Given the description of an element on the screen output the (x, y) to click on. 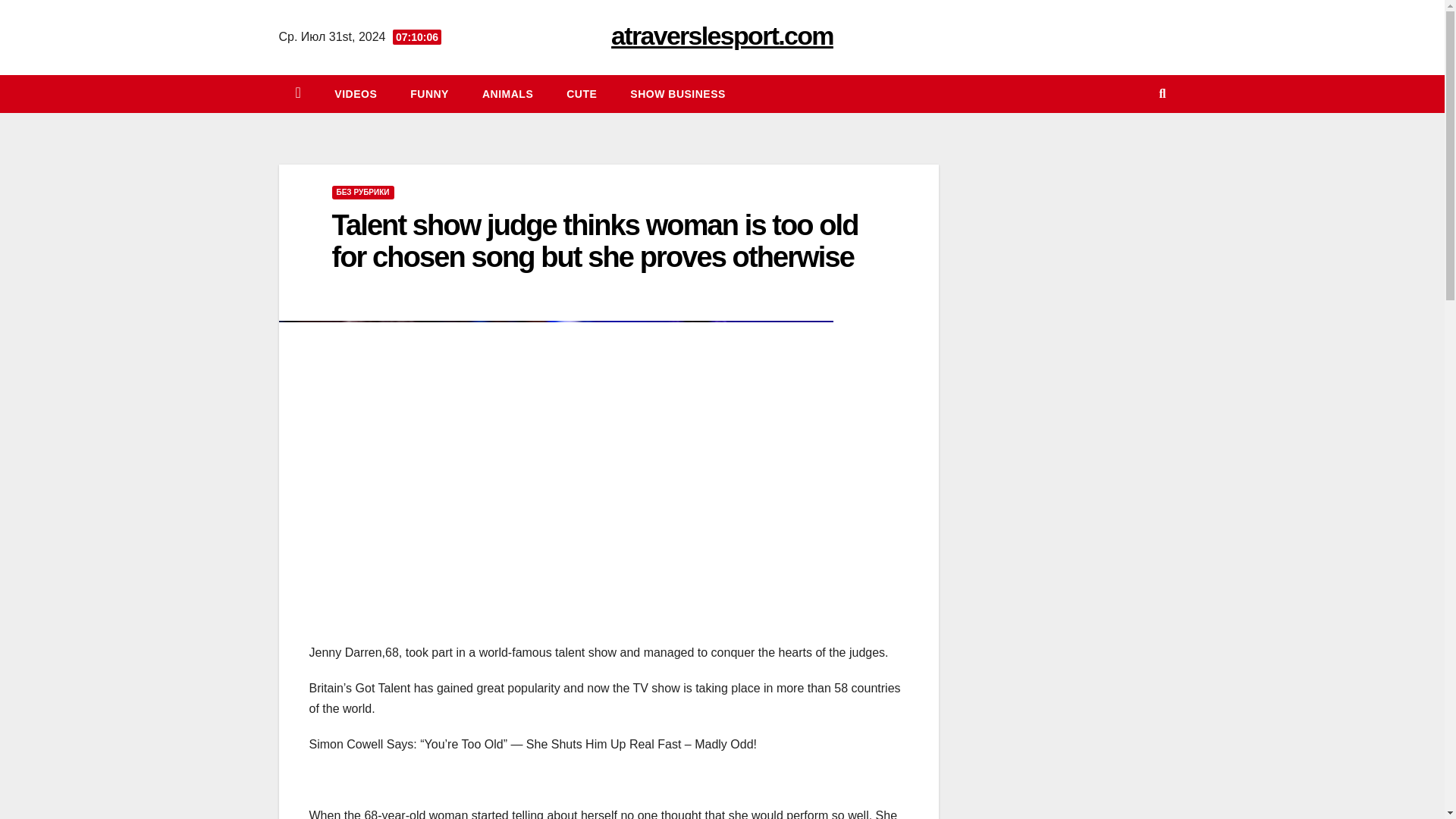
Funny (429, 94)
VIDEOS (355, 94)
ANIMALS (507, 94)
CUTE (581, 94)
Cute (581, 94)
Videos (355, 94)
atraverslesport.com (721, 35)
Animals (507, 94)
Show Business (677, 94)
SHOW BUSINESS (677, 94)
FUNNY (429, 94)
